Given the description of an element on the screen output the (x, y) to click on. 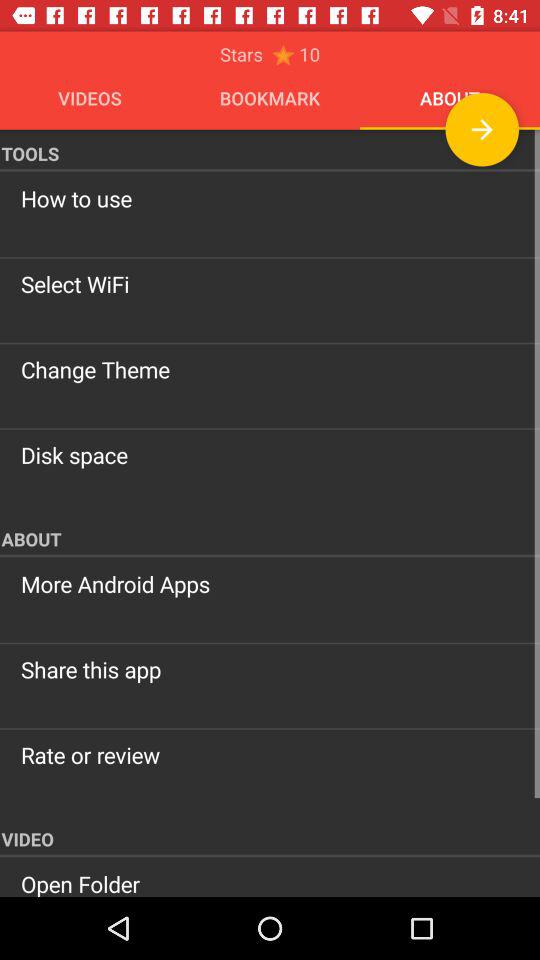
swipe to the disk space icon (270, 455)
